Given the description of an element on the screen output the (x, y) to click on. 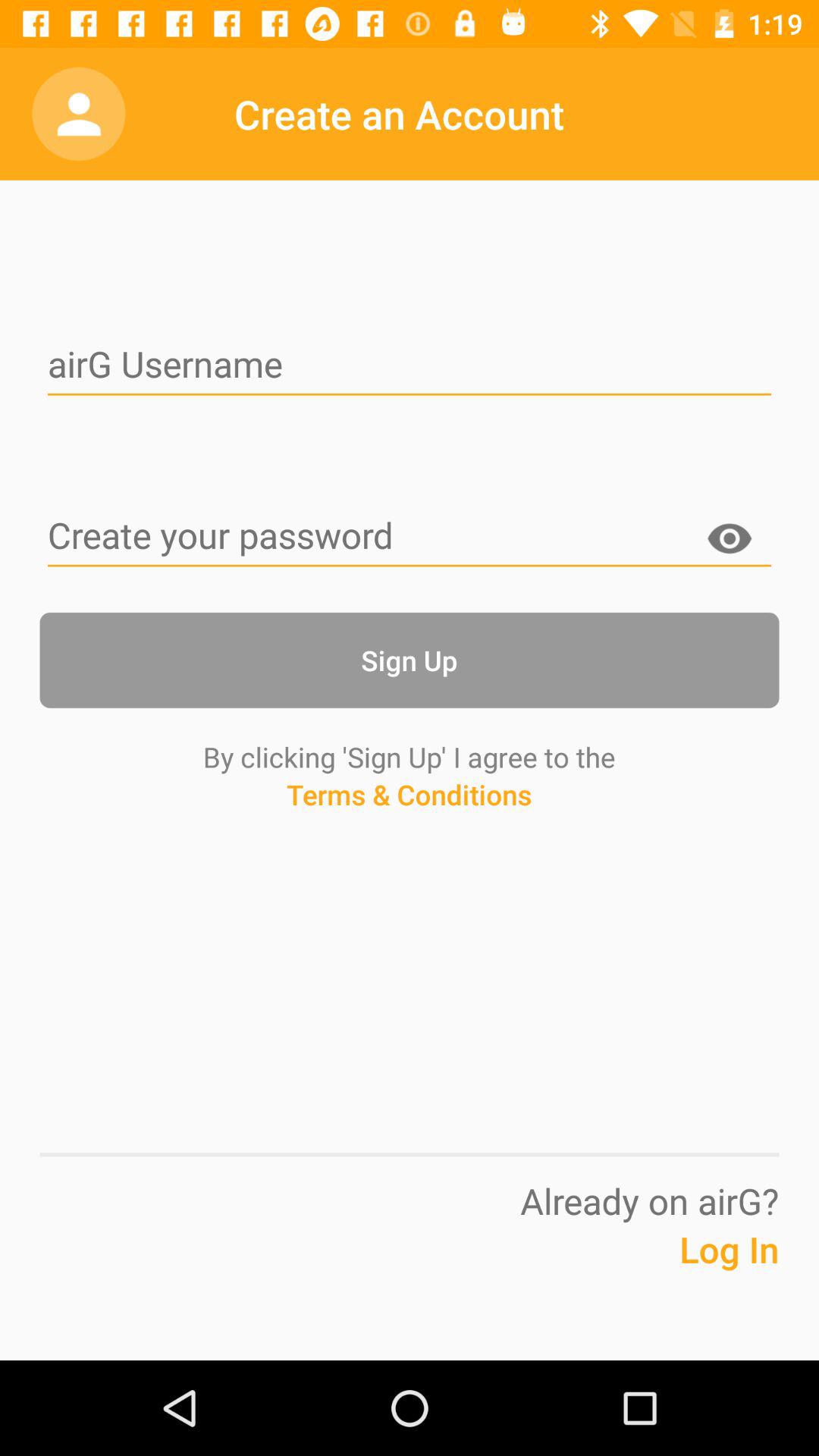
select icon below by clicking sign app (408, 823)
